Given the description of an element on the screen output the (x, y) to click on. 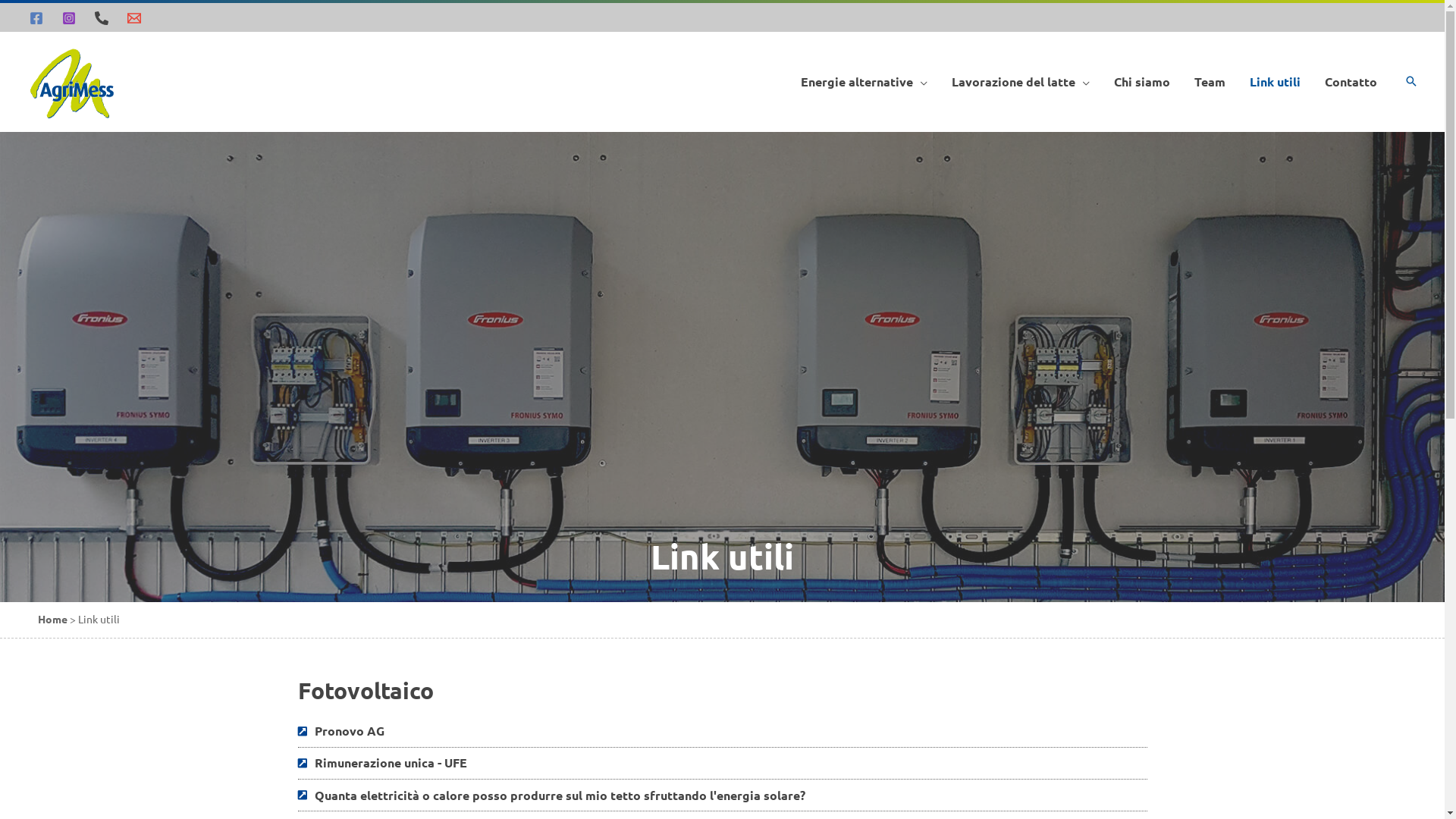
Contatto Element type: text (1350, 82)
Chi siamo Element type: text (1141, 82)
Link utili Element type: text (1274, 82)
Energie alternative Element type: text (863, 82)
Team Element type: text (1209, 82)
Home Element type: text (52, 619)
Pronovo AG Element type: text (721, 731)
Lavorazione del latte Element type: text (1020, 82)
Rimunerazione unica - UFE Element type: text (721, 763)
